Given the description of an element on the screen output the (x, y) to click on. 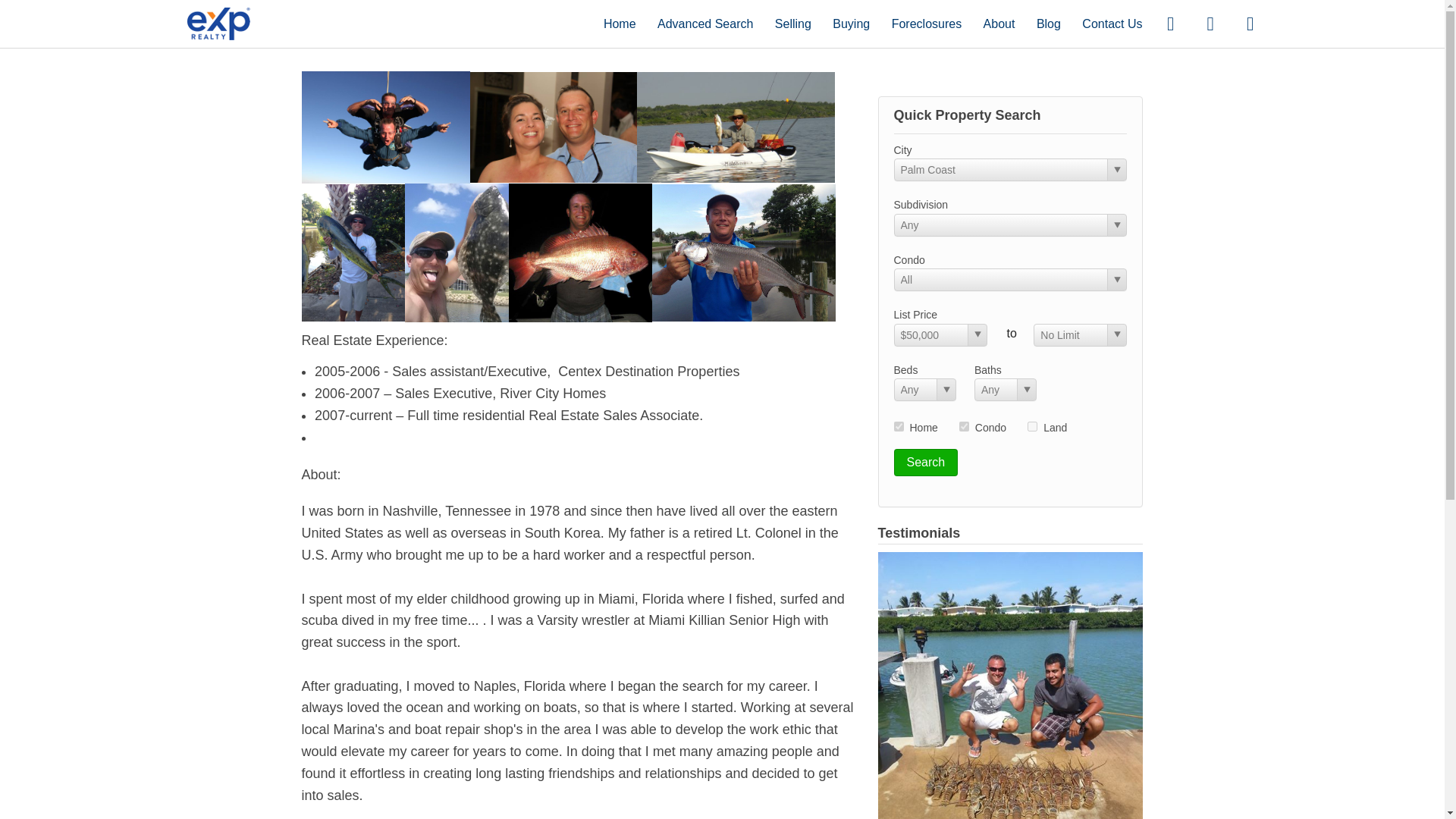
About (999, 23)
Advanced Search (705, 23)
Buying (850, 23)
lnd (1031, 426)
Contact Us (1111, 23)
Search (925, 461)
Selling (792, 23)
Davesellspalmcoast.com (218, 23)
con (964, 426)
Blog (1048, 23)
Foreclosures (925, 23)
Home (620, 23)
res (897, 426)
